Given the description of an element on the screen output the (x, y) to click on. 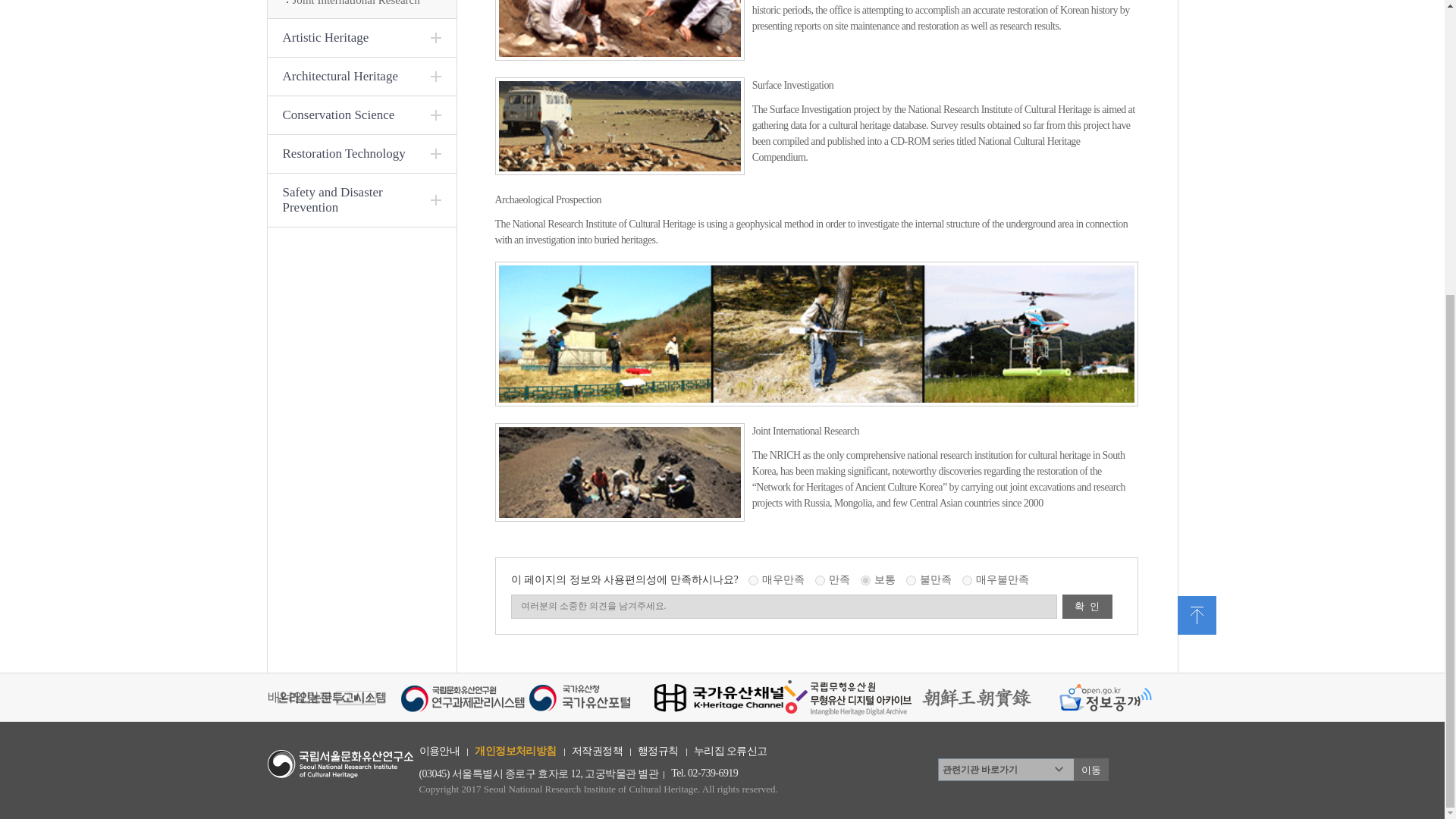
4 (820, 580)
1 (967, 580)
5 (753, 580)
3 (865, 580)
2 (910, 580)
